Given the description of an element on the screen output the (x, y) to click on. 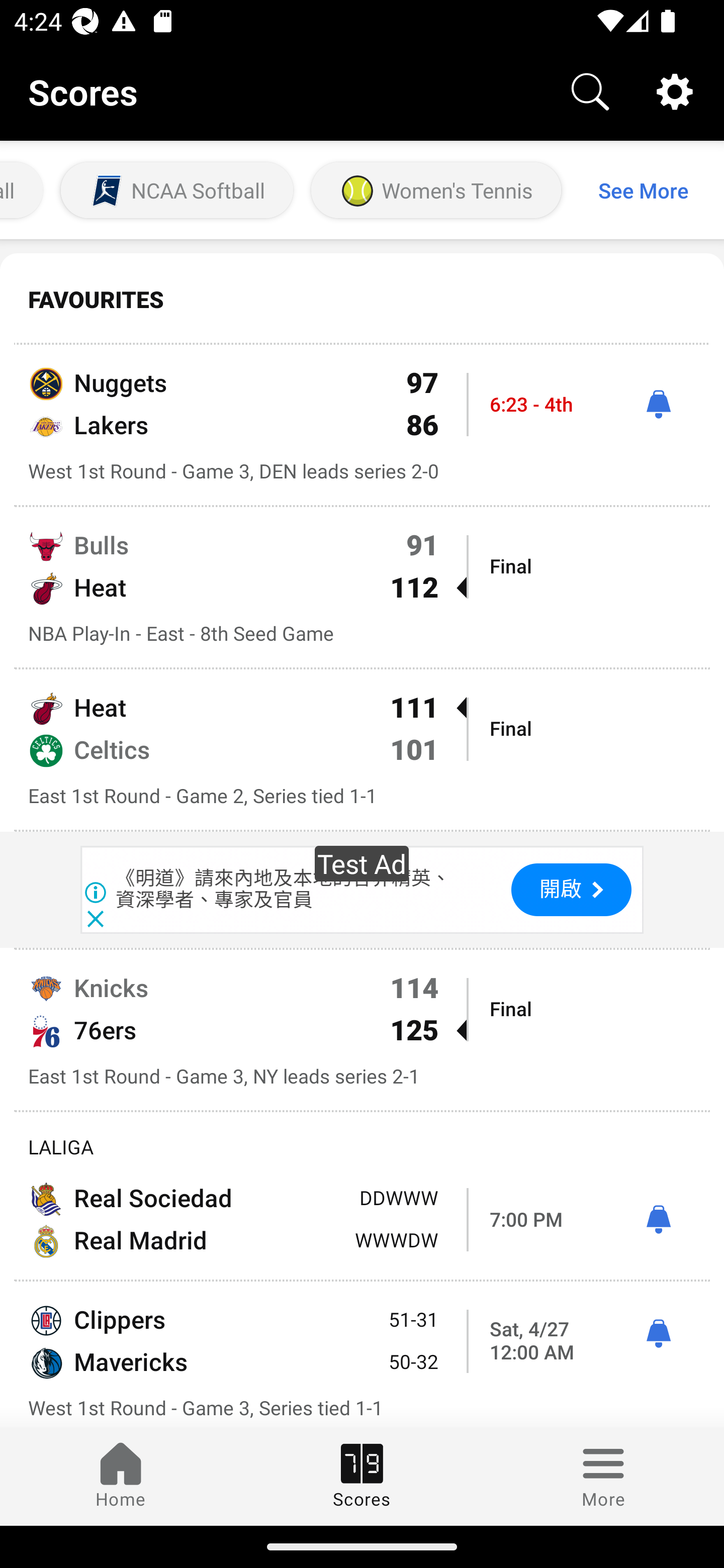
Search (590, 90)
Settings (674, 90)
NCAA Softball (176, 190)
Women's Tennis (435, 190)
See More (643, 189)
FAVOURITES (362, 299)
ì (658, 404)
開啟 (570, 889)
ì (658, 1219)
ì (658, 1334)
Home (120, 1475)
